Given the description of an element on the screen output the (x, y) to click on. 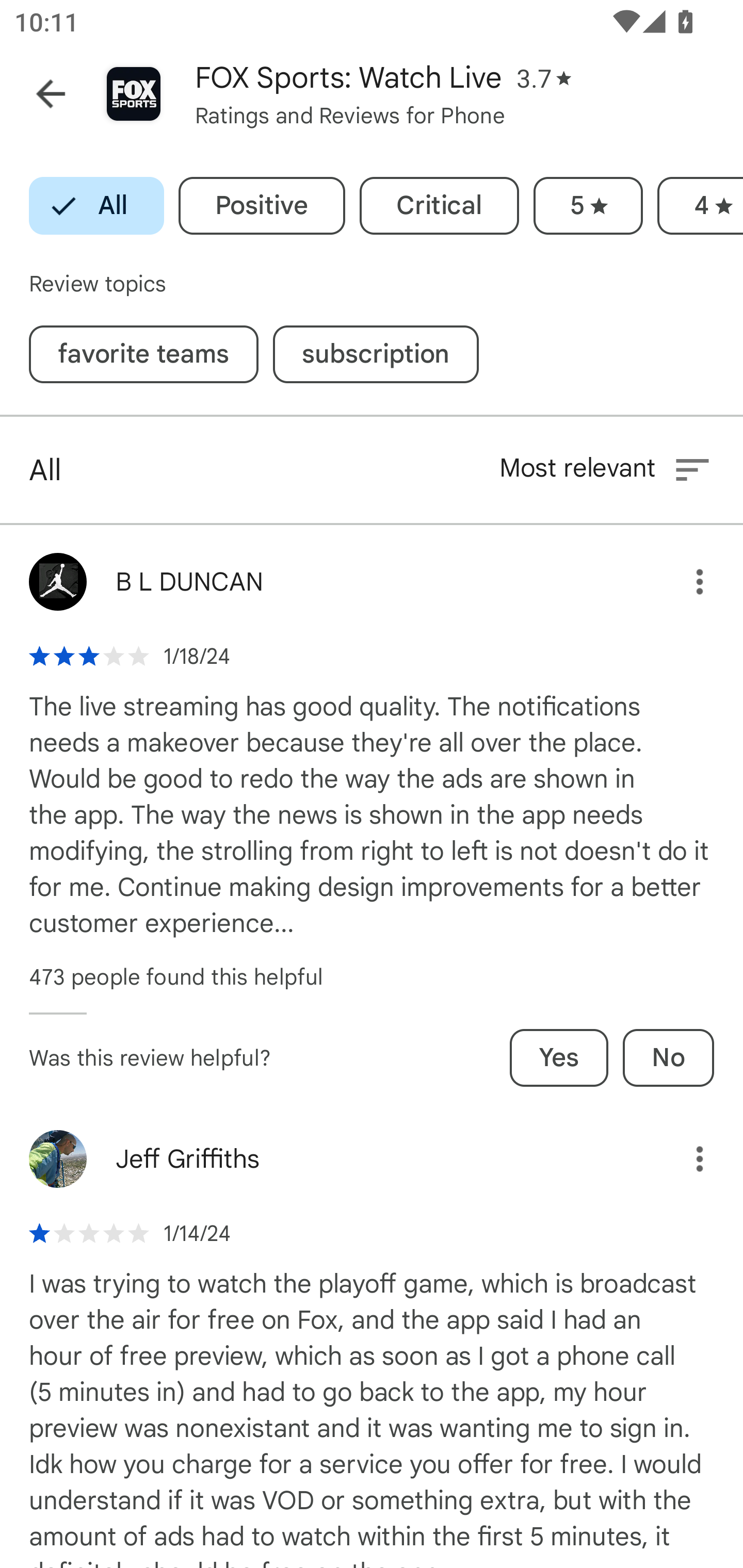
Navigate up (50, 93)
All (96, 206)
Positive (261, 206)
Critical (439, 206)
5 5 Stars (587, 206)
4 4 Stars (700, 206)
favorite teams (143, 354)
subscription (375, 354)
Most relevant (606, 469)
Options (685, 581)
Yes (558, 1057)
No (668, 1057)
Options (685, 1159)
